Given the description of an element on the screen output the (x, y) to click on. 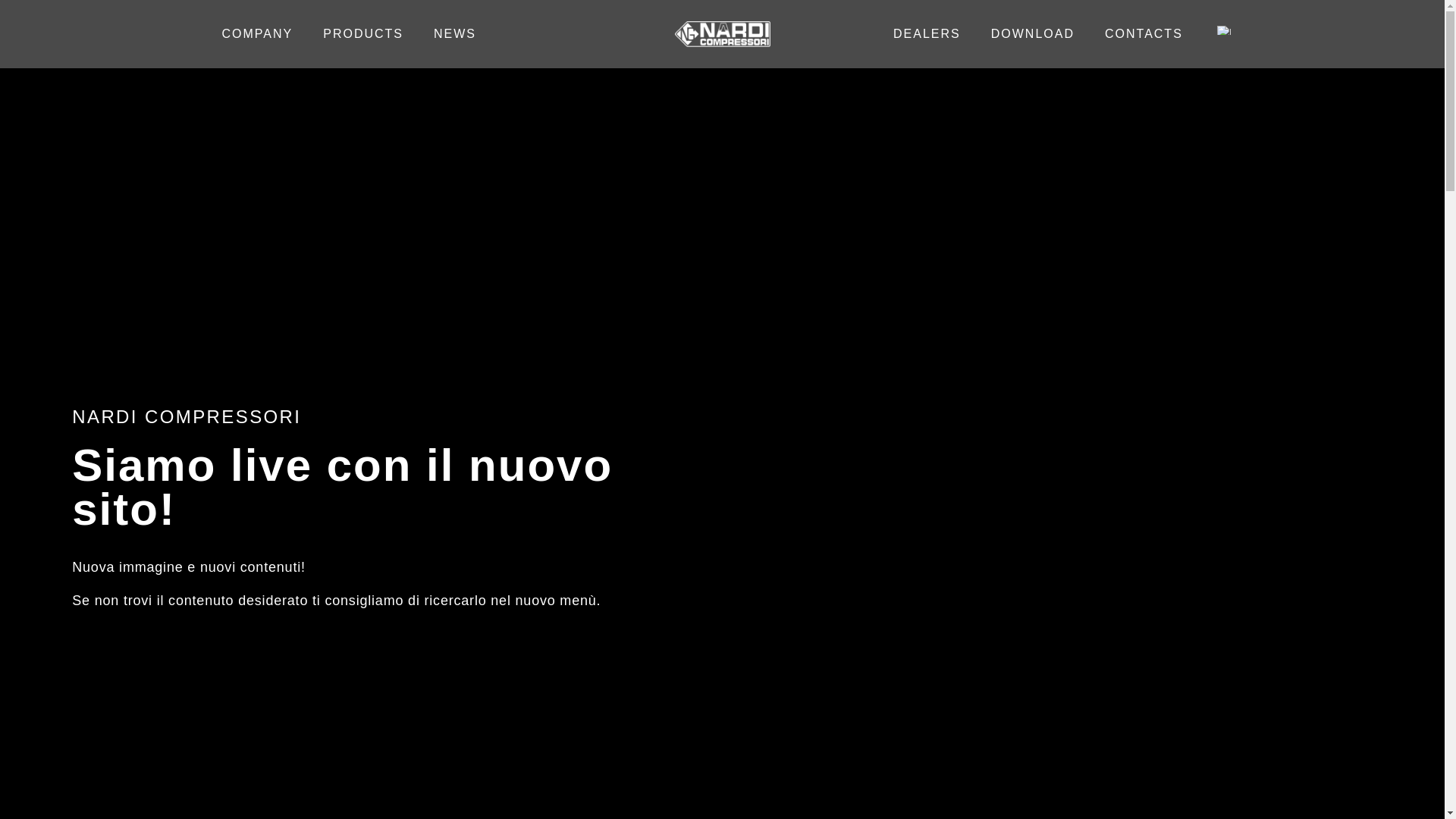
PRODUCTS (363, 33)
DEALERS (926, 33)
CONTACTS (1143, 33)
DOWNLOAD (1032, 33)
Italian (1223, 30)
COMPANY (256, 33)
NEWS (455, 33)
